Given the description of an element on the screen output the (x, y) to click on. 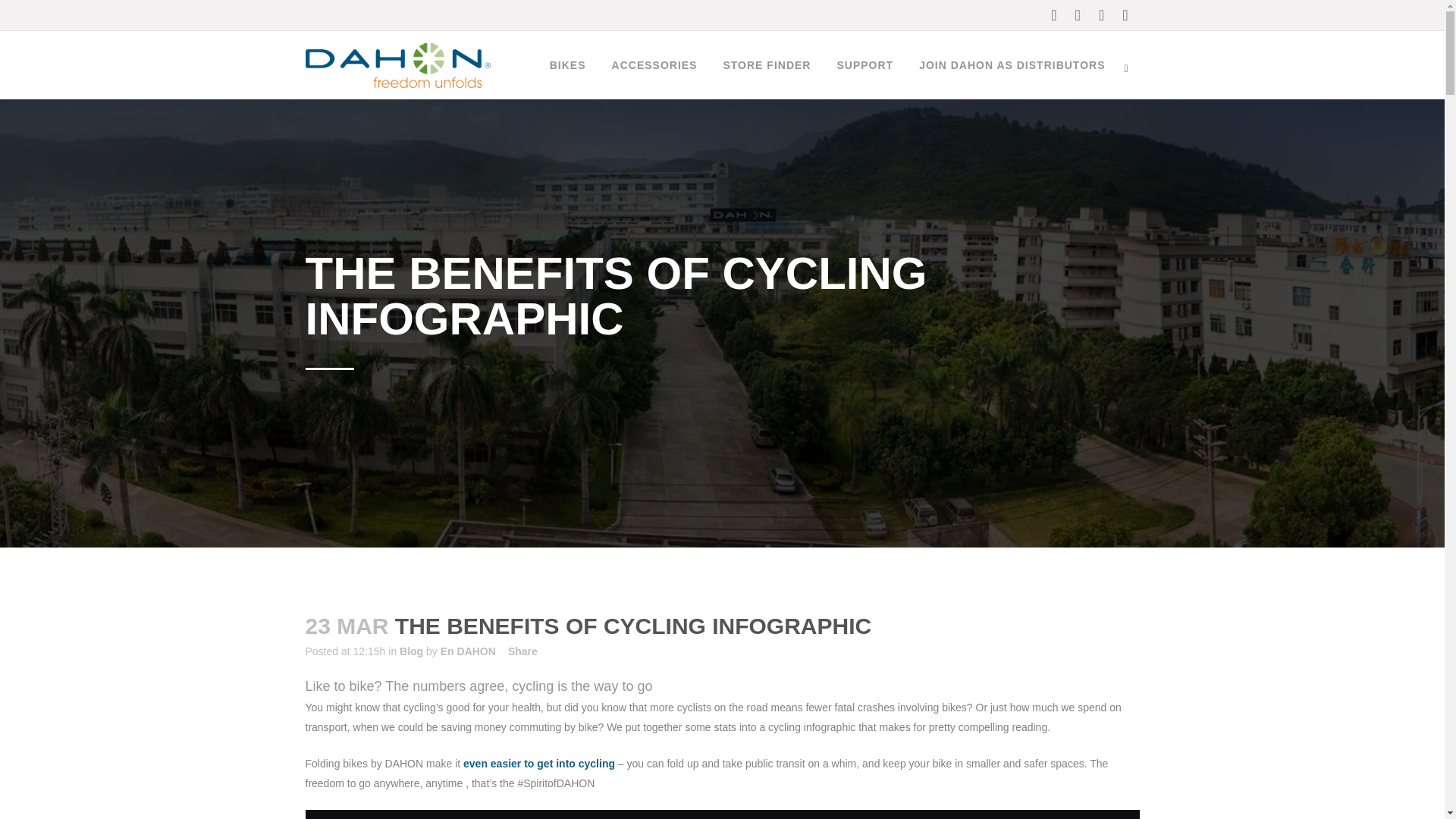
STORE FINDER (767, 65)
En DAHON (468, 651)
ACCESSORIES (654, 65)
SUPPORT (864, 65)
even easier to get into cycling (538, 763)
JOIN DAHON AS DISTRIBUTORS (1011, 65)
Blog (410, 651)
Share (522, 651)
BIKES (567, 65)
